Given the description of an element on the screen output the (x, y) to click on. 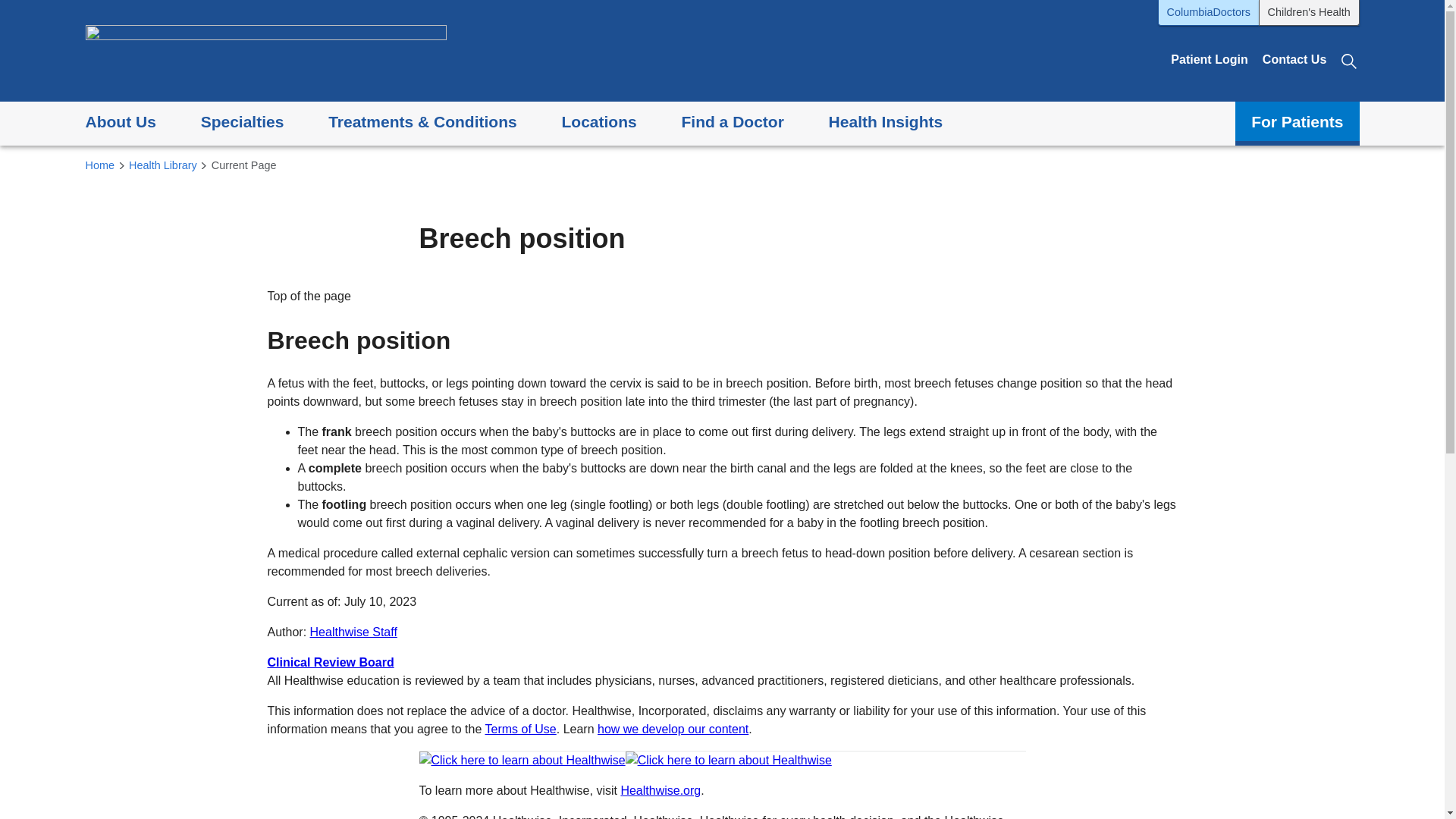
Search (1349, 59)
Contact Us (1294, 59)
Top of the page (308, 295)
Find a Doctor (732, 122)
ColumbiaDoctors (1208, 12)
Locations (598, 122)
Health Insights (885, 122)
Healthwise Staff (353, 631)
Patient Login (1208, 59)
Terms of Use (520, 728)
About Us (119, 122)
Health Library (162, 166)
Healthwise.org (660, 789)
Clinical Review Board (329, 662)
